Given the description of an element on the screen output the (x, y) to click on. 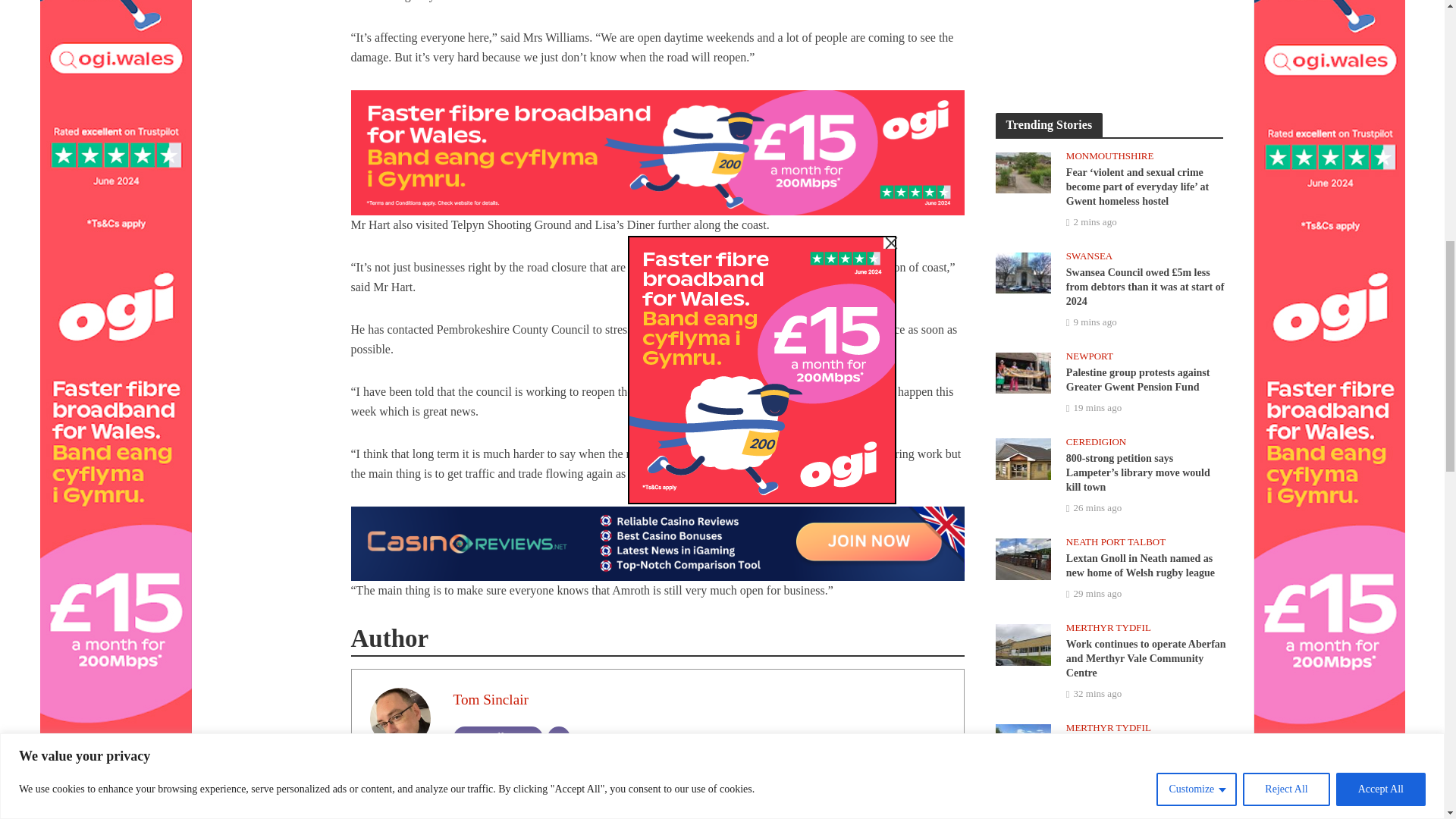
Advertisement (1108, 41)
Tom Sinclair (490, 699)
View all posts (497, 737)
Palestine group protests against Greater Gwent Pension Fund (1021, 372)
